Given the description of an element on the screen output the (x, y) to click on. 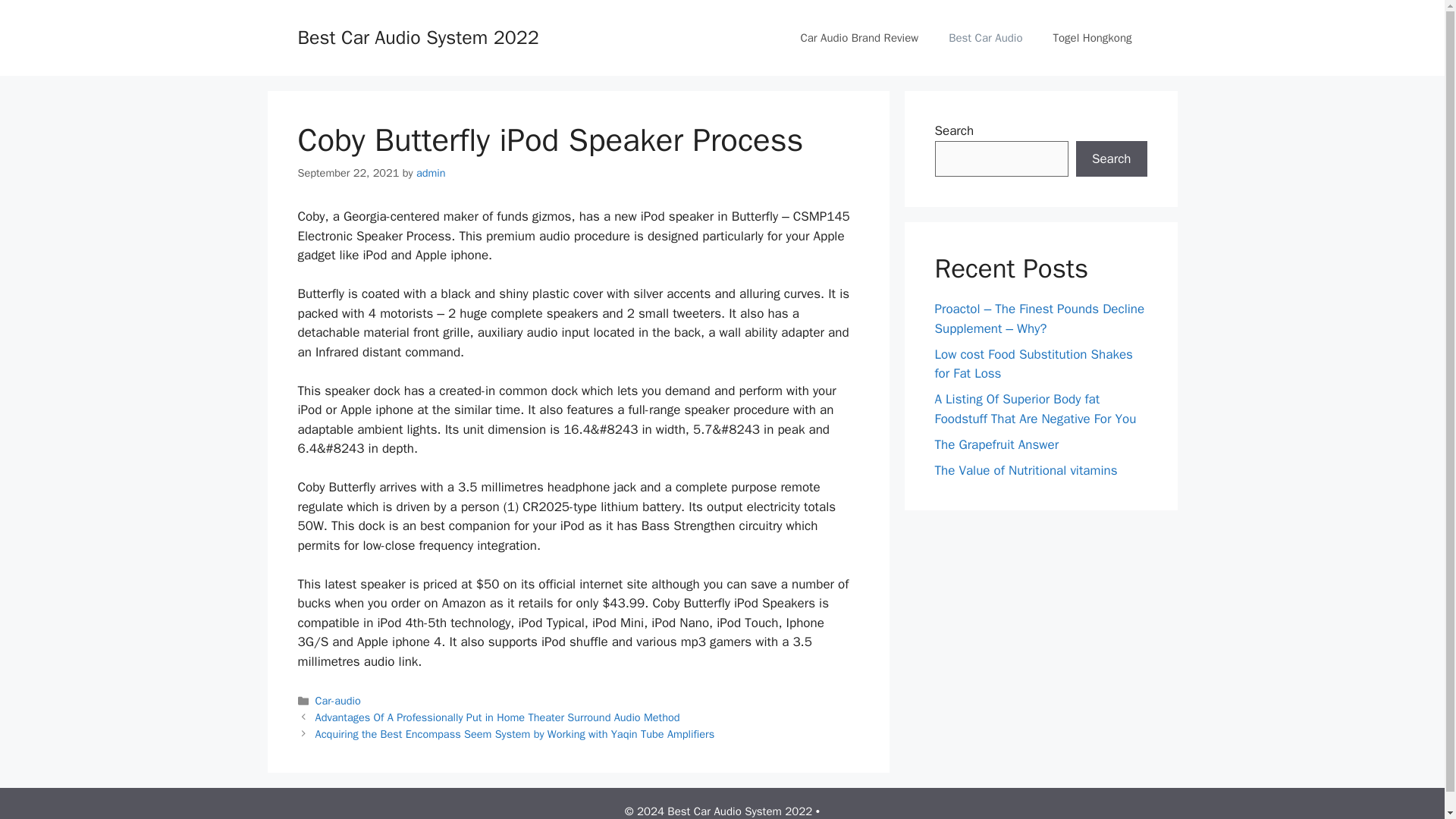
Low cost Food Substitution Shakes for Fat Loss (1033, 363)
Car-audio (338, 700)
Best Car Audio System 2022 (417, 37)
Togel Hongkong (1091, 37)
admin (430, 172)
The Grapefruit Answer (996, 444)
The Value of Nutritional vitamins (1025, 470)
Search (1111, 158)
View all posts by admin (430, 172)
Car Audio Brand Review (858, 37)
Best Car Audio (984, 37)
